Given the description of an element on the screen output the (x, y) to click on. 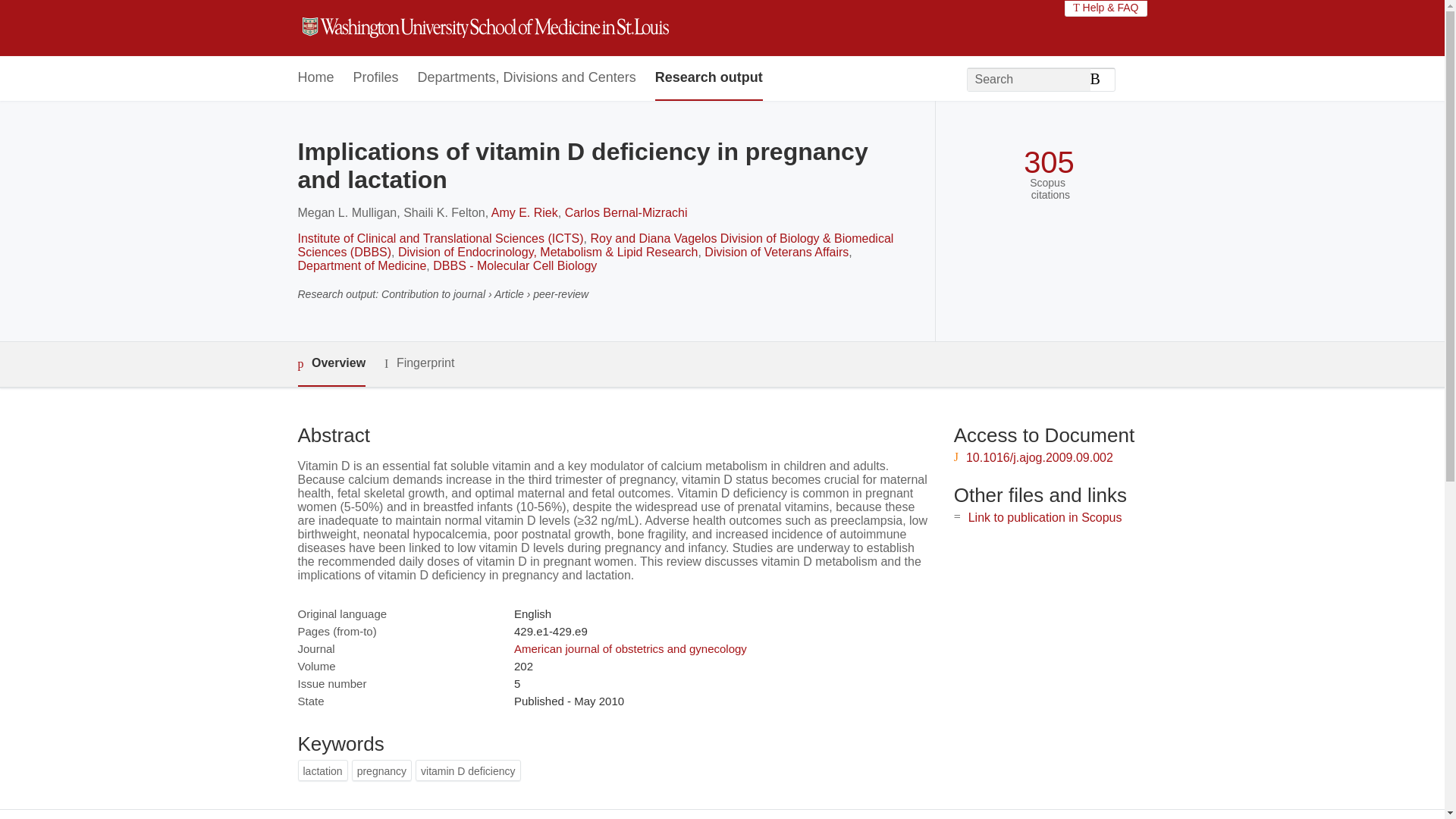
Department of Medicine (361, 265)
DBBS - Molecular Cell Biology (514, 265)
Overview (331, 364)
American journal of obstetrics and gynecology (629, 648)
Fingerprint (419, 363)
305 (1048, 162)
Carlos Bernal-Mizrachi (625, 212)
Division of Veterans Affairs (776, 251)
Link to publication in Scopus (1045, 517)
Home (315, 78)
Departments, Divisions and Centers (526, 78)
Profiles (375, 78)
Research output (708, 78)
